Given the description of an element on the screen output the (x, y) to click on. 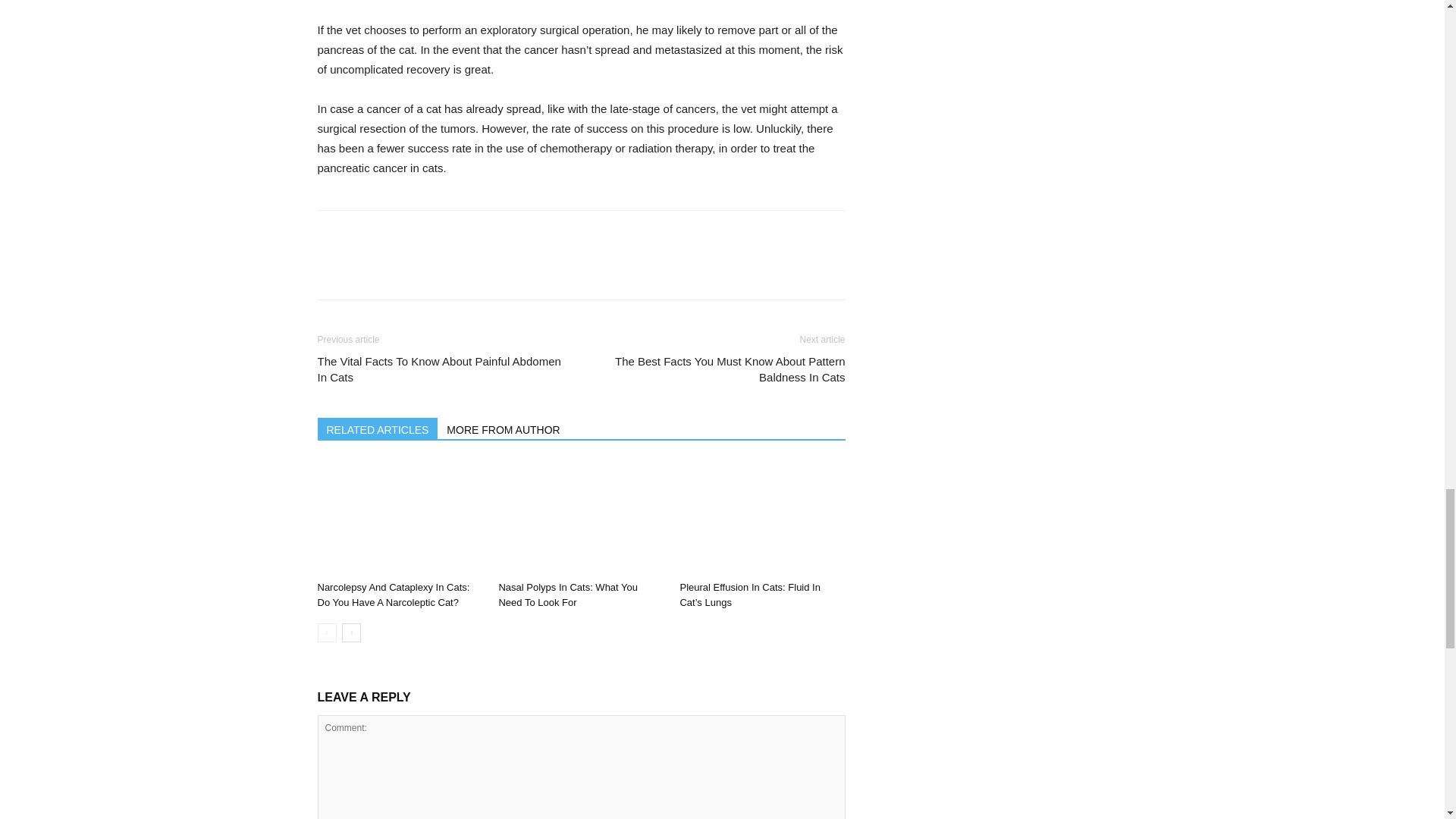
Nasal Polyps In Cats: What You Need To Look For (580, 517)
Nasal Polyps In Cats: What You Need To Look For (567, 594)
